Given the description of an element on the screen output the (x, y) to click on. 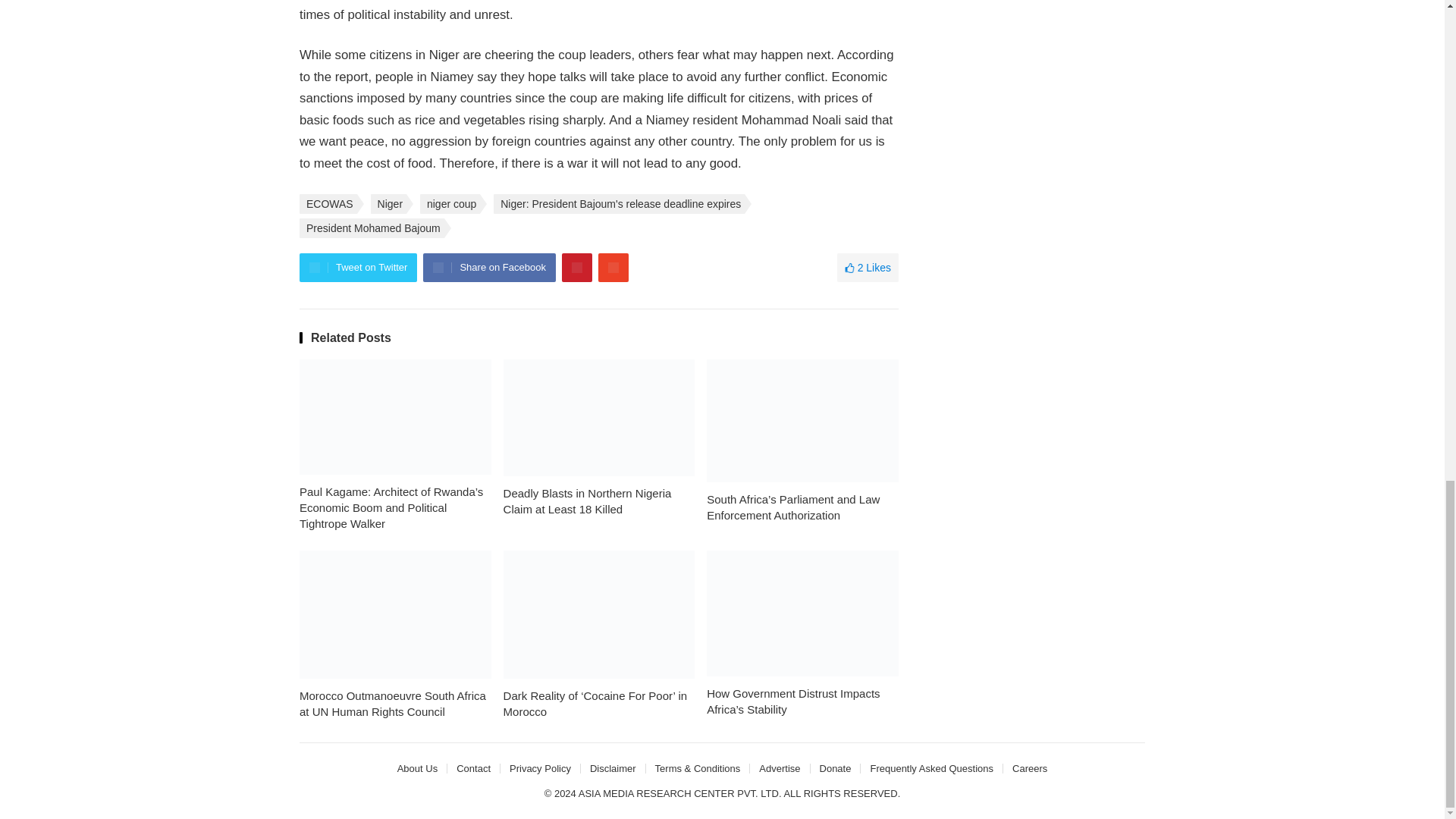
Like this post (867, 267)
